Given the description of an element on the screen output the (x, y) to click on. 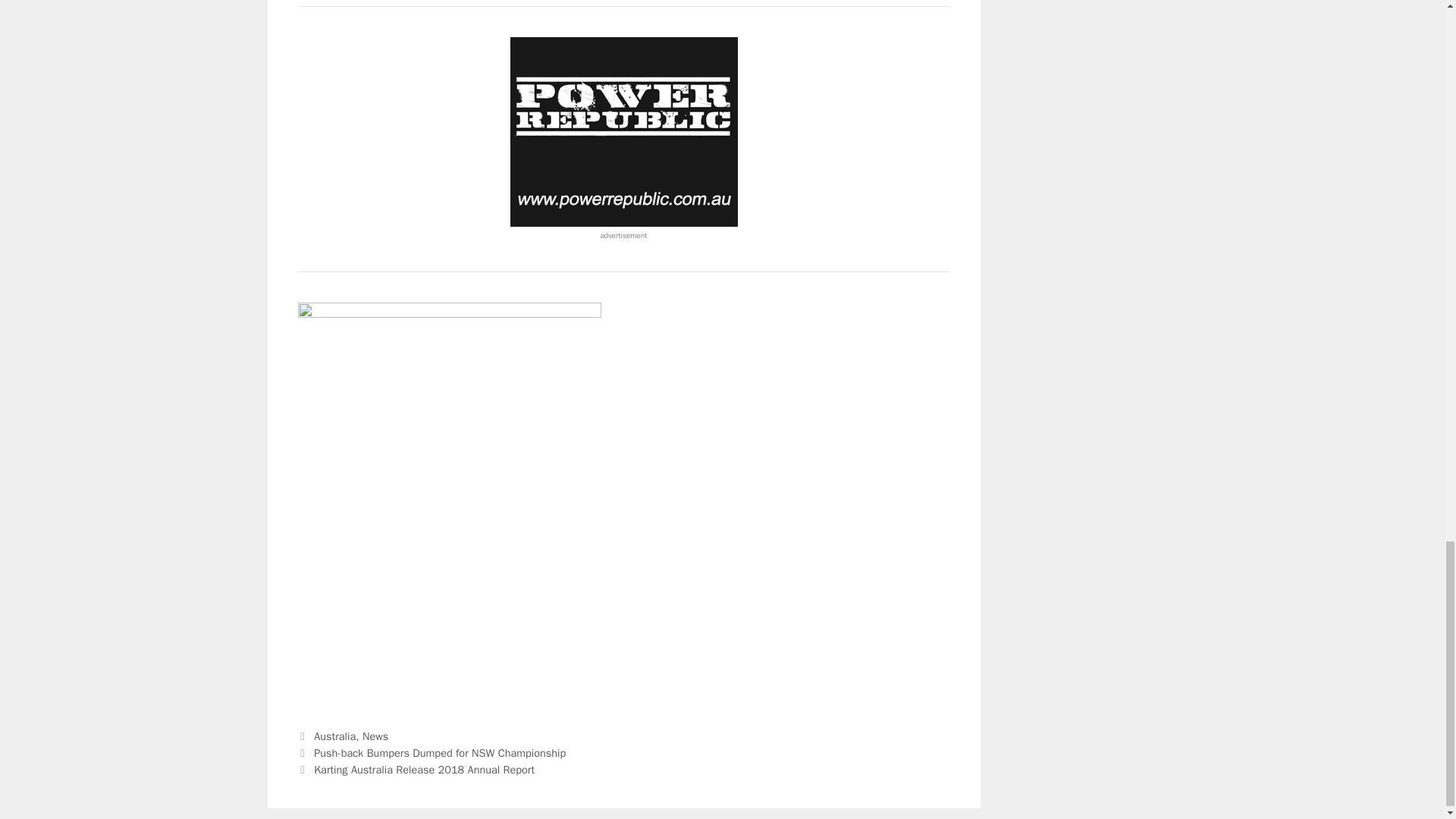
Karting Australia Release 2018 Annual Report (424, 769)
Australia (334, 735)
Push-back Bumpers Dumped for NSW Championship (440, 753)
News (375, 735)
